Given the description of an element on the screen output the (x, y) to click on. 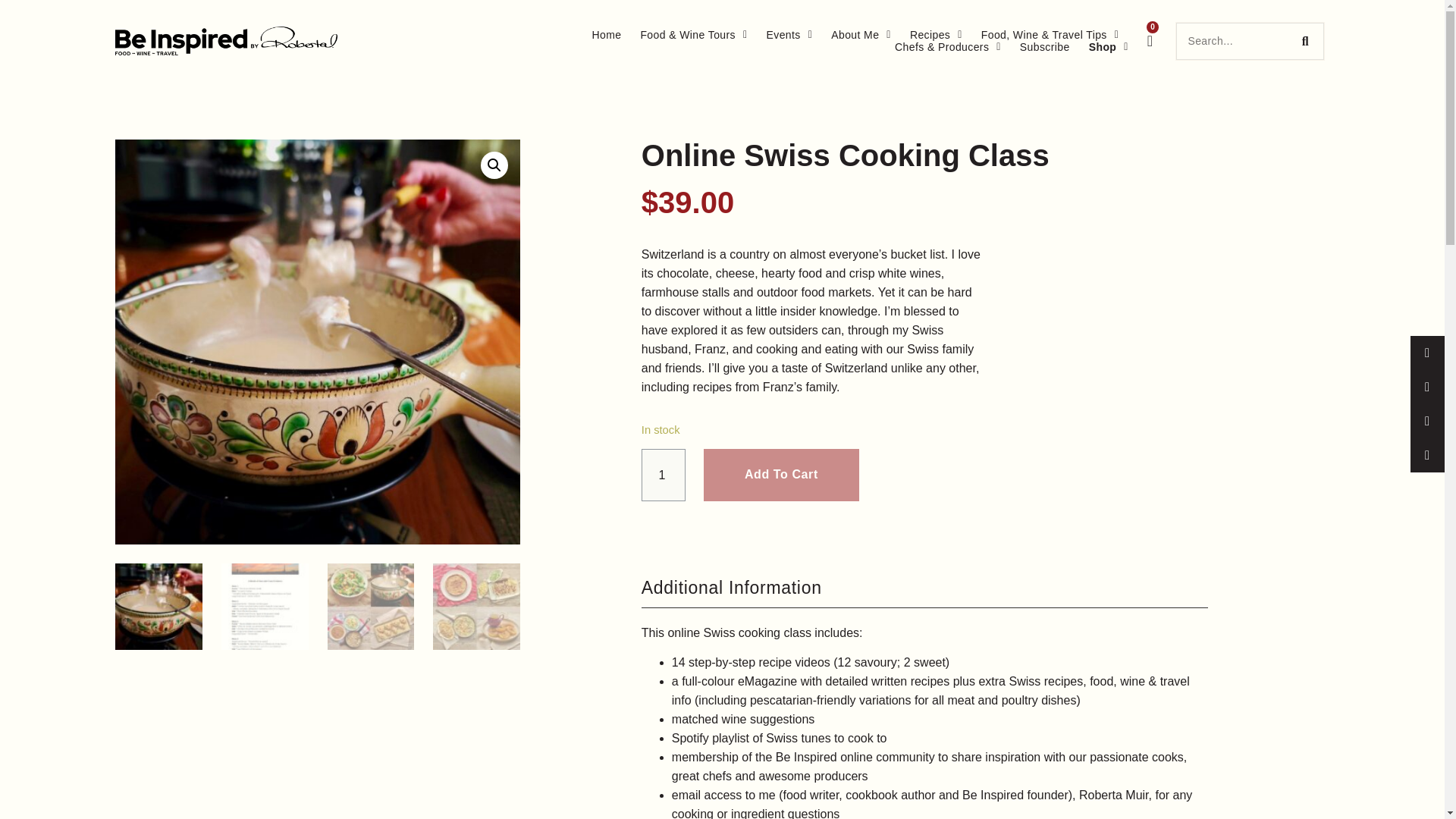
Subscribe (1045, 46)
Shop (1108, 46)
About Me (861, 34)
Events (789, 34)
Home (606, 34)
Recipes (936, 34)
